Given the description of an element on the screen output the (x, y) to click on. 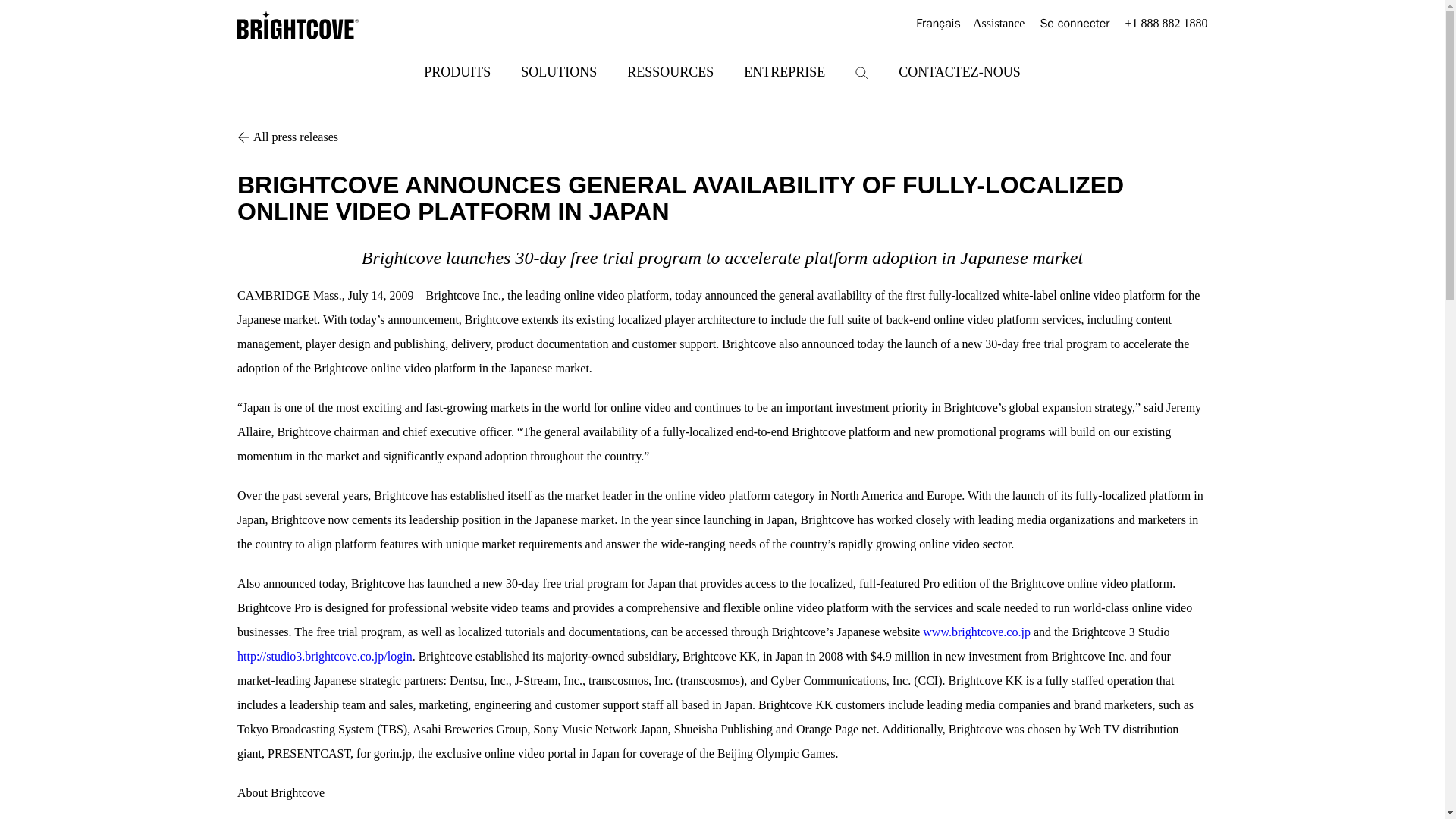
www.brightcove.co.jp (976, 631)
SEARCH ICONA MAGNIFYING GLASS ICON. (861, 72)
Assistance (998, 23)
All press releases (722, 137)
CONTACTEZ-NOUS (959, 71)
Se connecter (1074, 23)
